Given the description of an element on the screen output the (x, y) to click on. 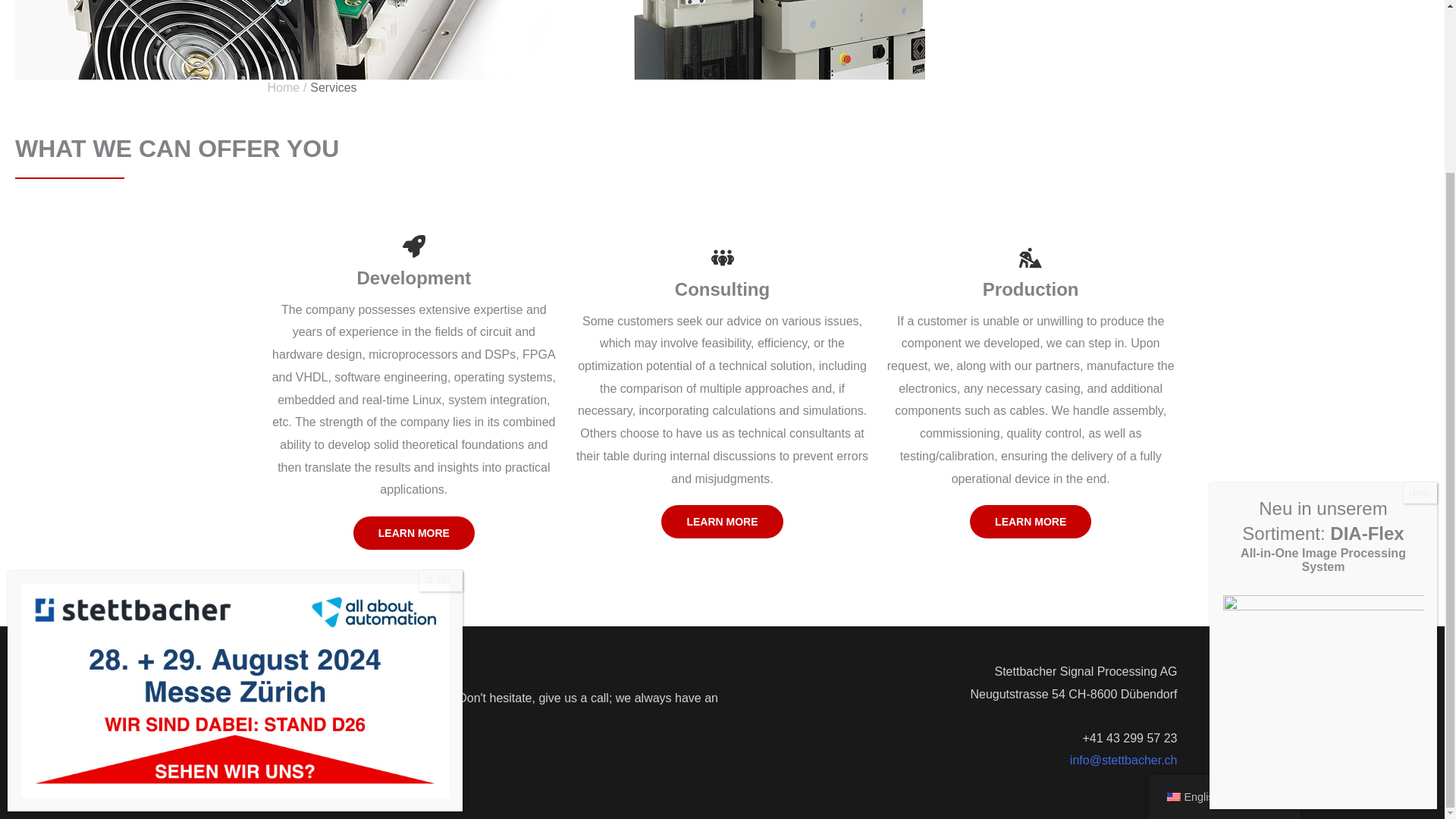
Page 3 (494, 673)
English (1172, 587)
